Given the description of an element on the screen output the (x, y) to click on. 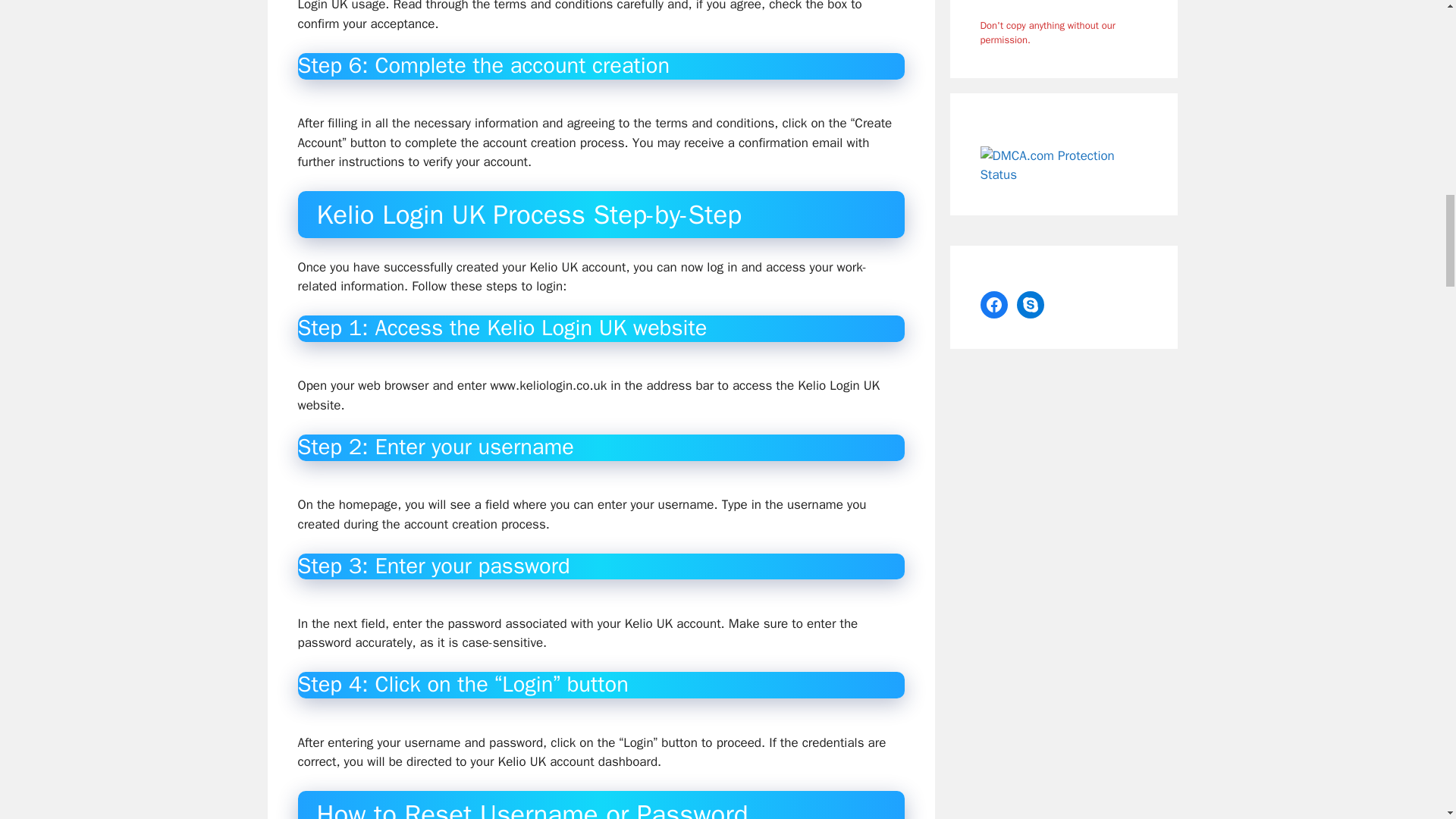
DMCA.com Protection Status (1063, 174)
